Given the description of an element on the screen output the (x, y) to click on. 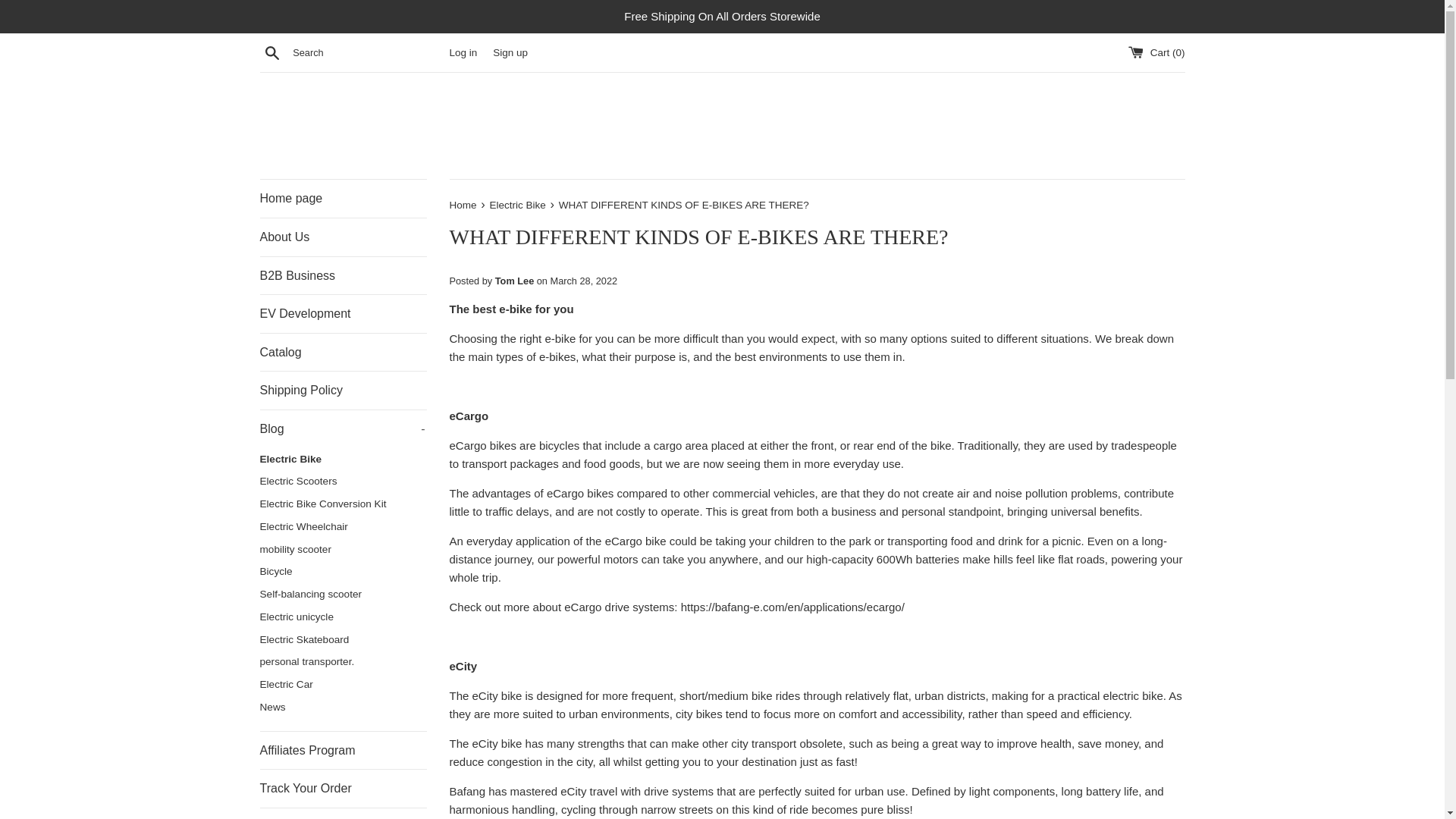
Catalog (342, 352)
Bicycle (342, 571)
Electric Scooters (342, 481)
Electric Bike Conversion Kit (342, 504)
EV Development (342, 313)
mobility scooter (342, 549)
Home page (342, 198)
Electric Bike (518, 204)
News (342, 707)
personal transporter. (342, 661)
Log in (462, 52)
Electric unicycle (342, 617)
Electric Bike (342, 458)
Shipping Policy (342, 390)
Electric Wheelchair (342, 526)
